Given the description of an element on the screen output the (x, y) to click on. 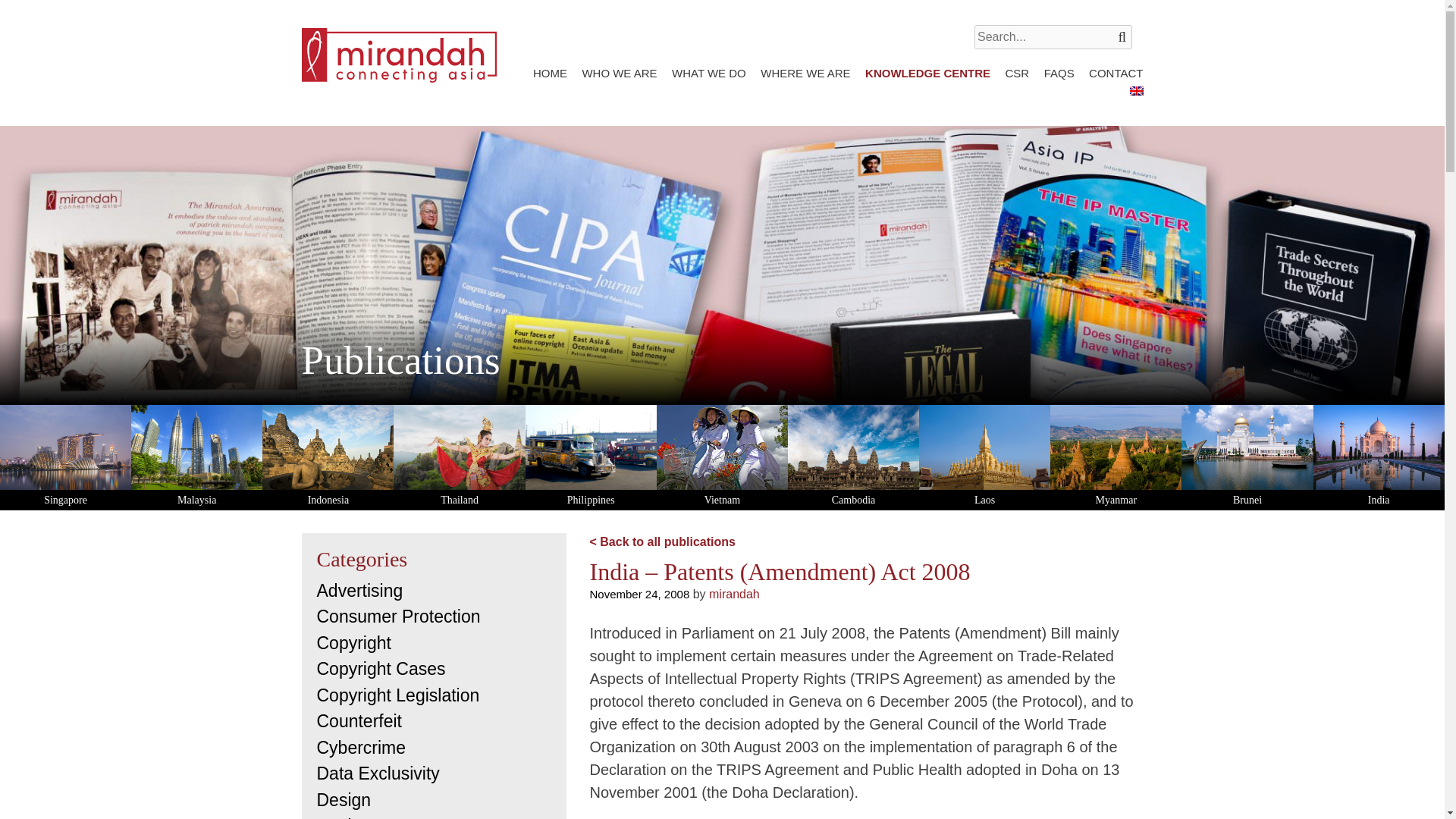
Copyright (354, 642)
Indonesia (327, 457)
Singapore (65, 457)
Advertising (360, 590)
Copyright Cases (381, 668)
Myanmar (1114, 457)
Counterfeit (360, 721)
Copyright Legislation (398, 695)
Laos (983, 457)
Data Exclusivity (378, 772)
